Given the description of an element on the screen output the (x, y) to click on. 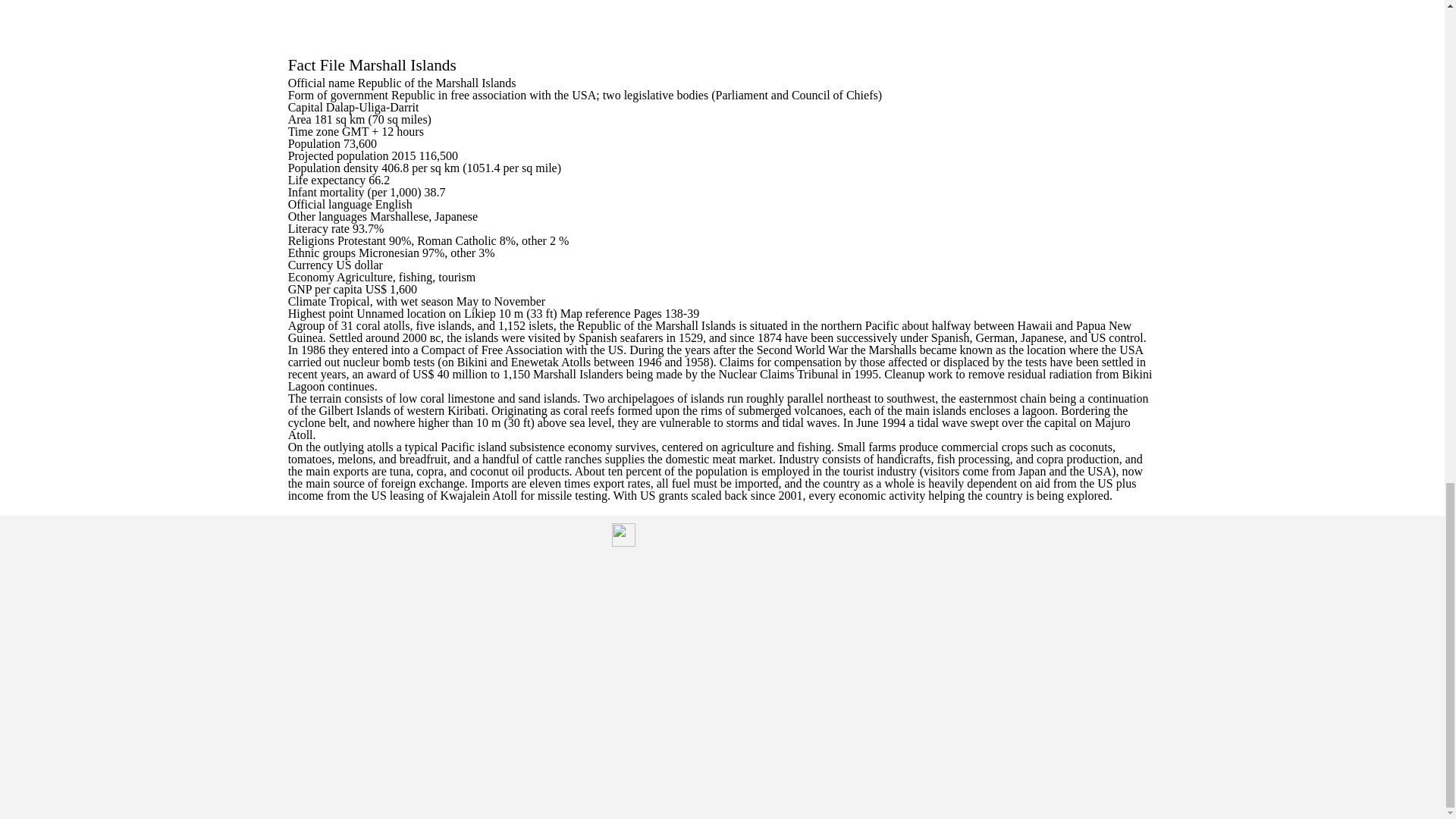
LiveInternet (622, 535)
